Given the description of an element on the screen output the (x, y) to click on. 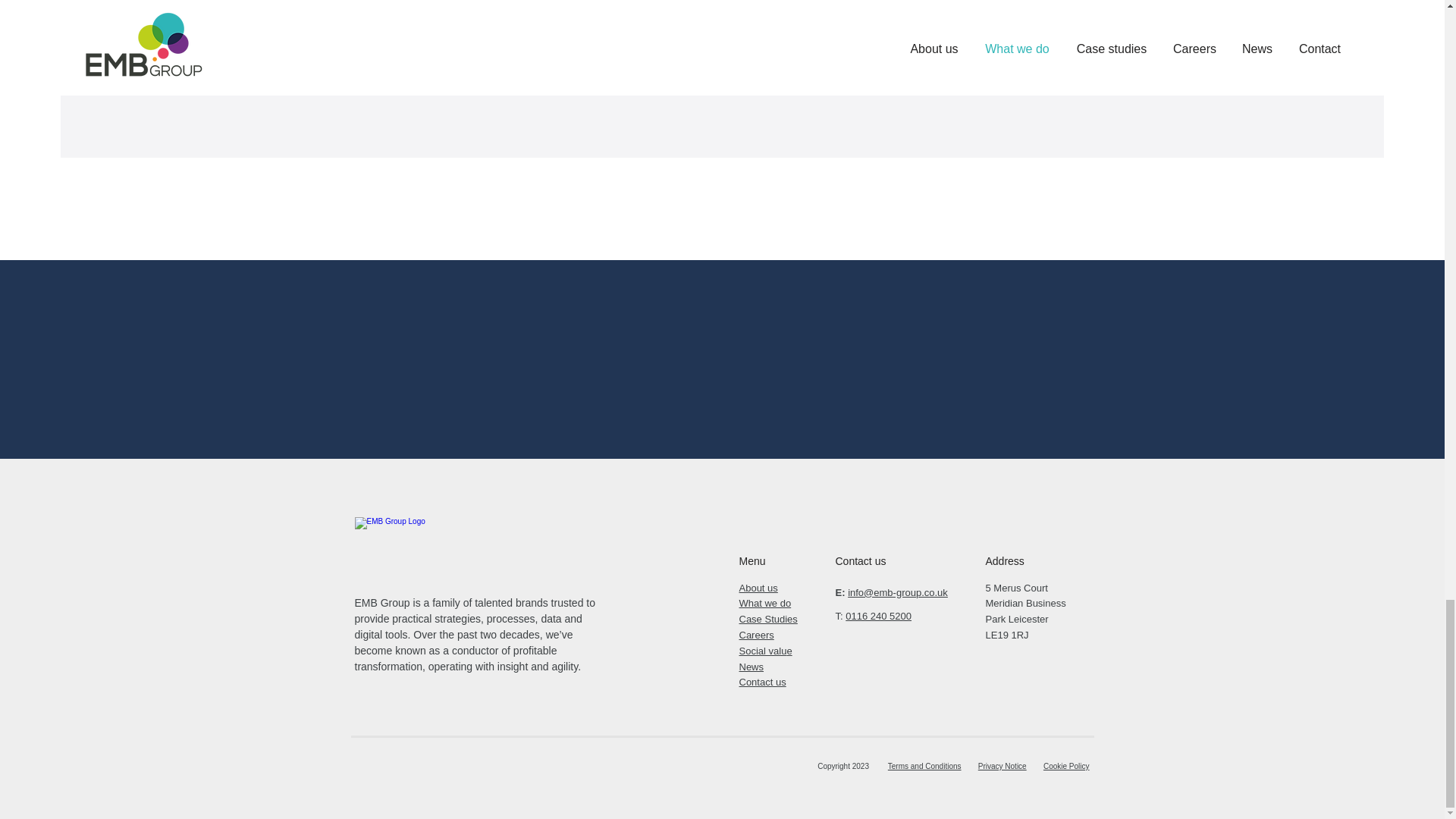
Cookie Policy (1066, 766)
Social value (765, 650)
Terms and Conditions (924, 766)
Contact us (762, 681)
Privacy Notice (1002, 766)
About us (757, 587)
News (750, 666)
Case Studies (767, 618)
What we do (764, 603)
0116 240 5200 (878, 615)
Careers (755, 634)
